Given the description of an element on the screen output the (x, y) to click on. 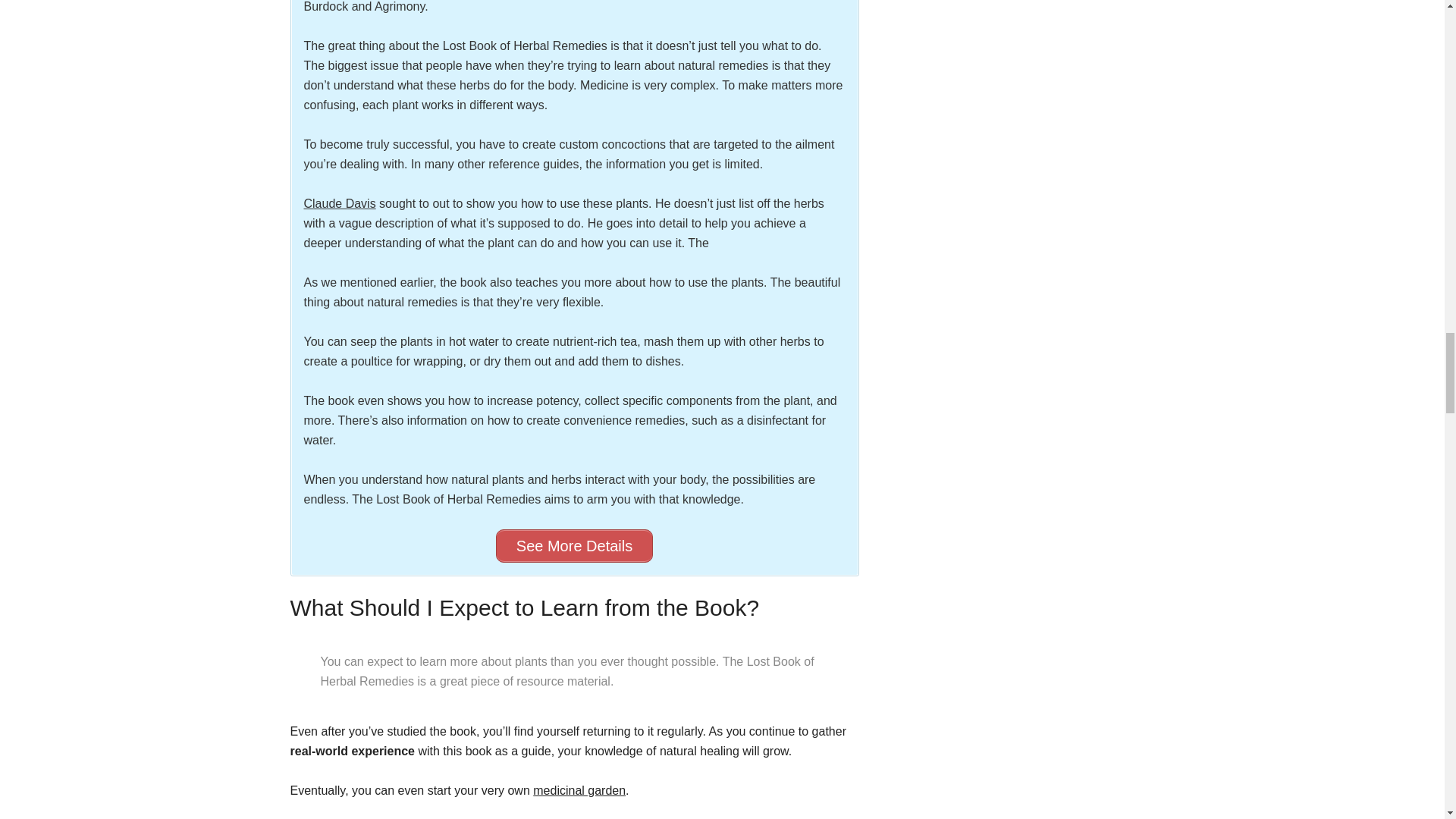
See More Details (574, 545)
